Given the description of an element on the screen output the (x, y) to click on. 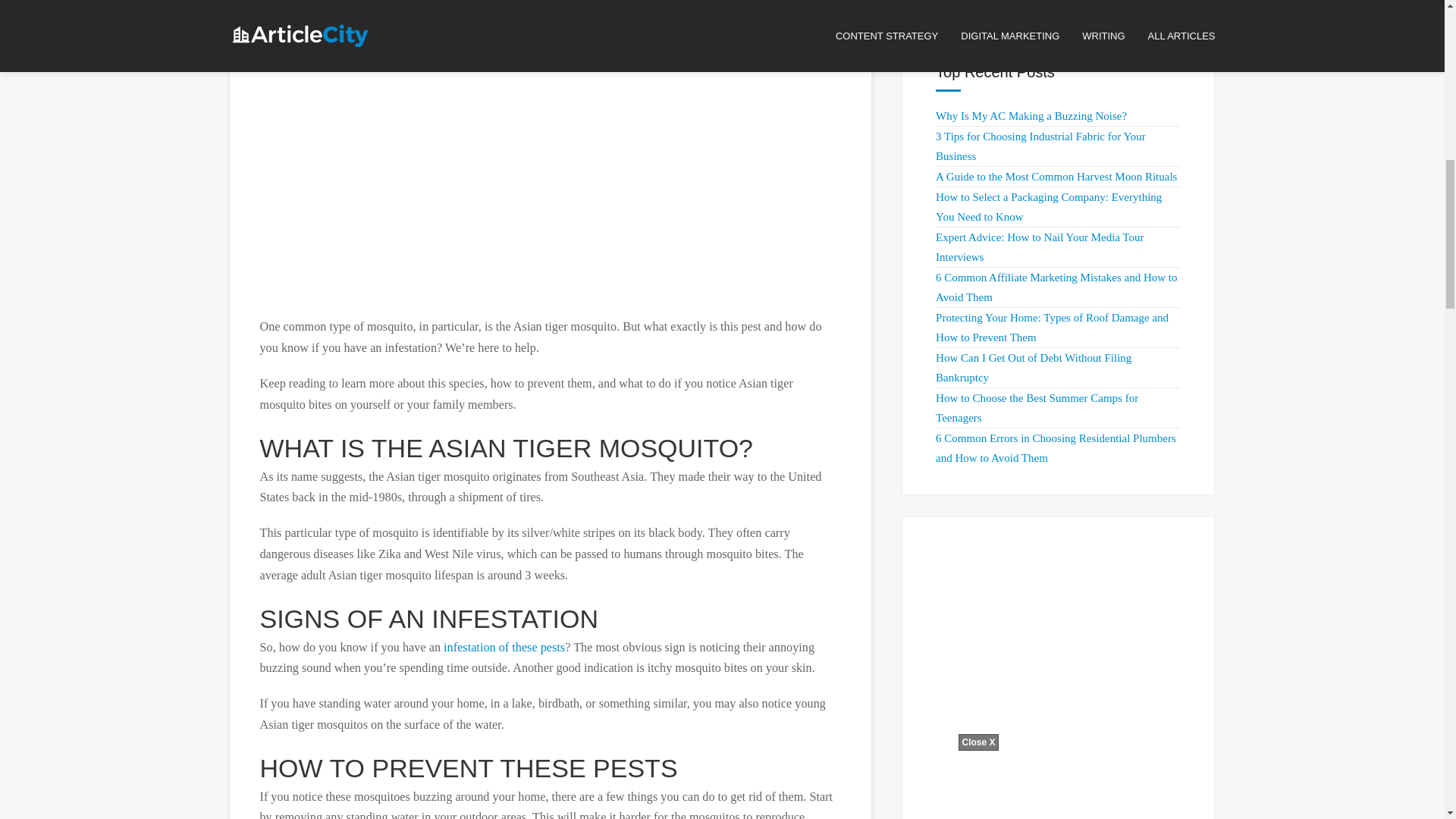
6 Common Affiliate Marketing Mistakes and How to Avoid Them (1056, 287)
How Can I Get Out of Debt Without Filing Bankruptcy (1033, 368)
3 Tips for Choosing Industrial Fabric for Your Business (1040, 146)
3rd party ad content (549, 191)
A Guide to the Most Common Harvest Moon Rituals (1056, 176)
How to Choose the Best Summer Camps for Teenagers (1037, 408)
Expert Advice: How to Nail Your Media Tour Interviews (1039, 246)
Why Is My AC Making a Buzzing Noise? (1031, 115)
infestation of these pests (504, 647)
estimated 725,000 (572, 55)
